Given the description of an element on the screen output the (x, y) to click on. 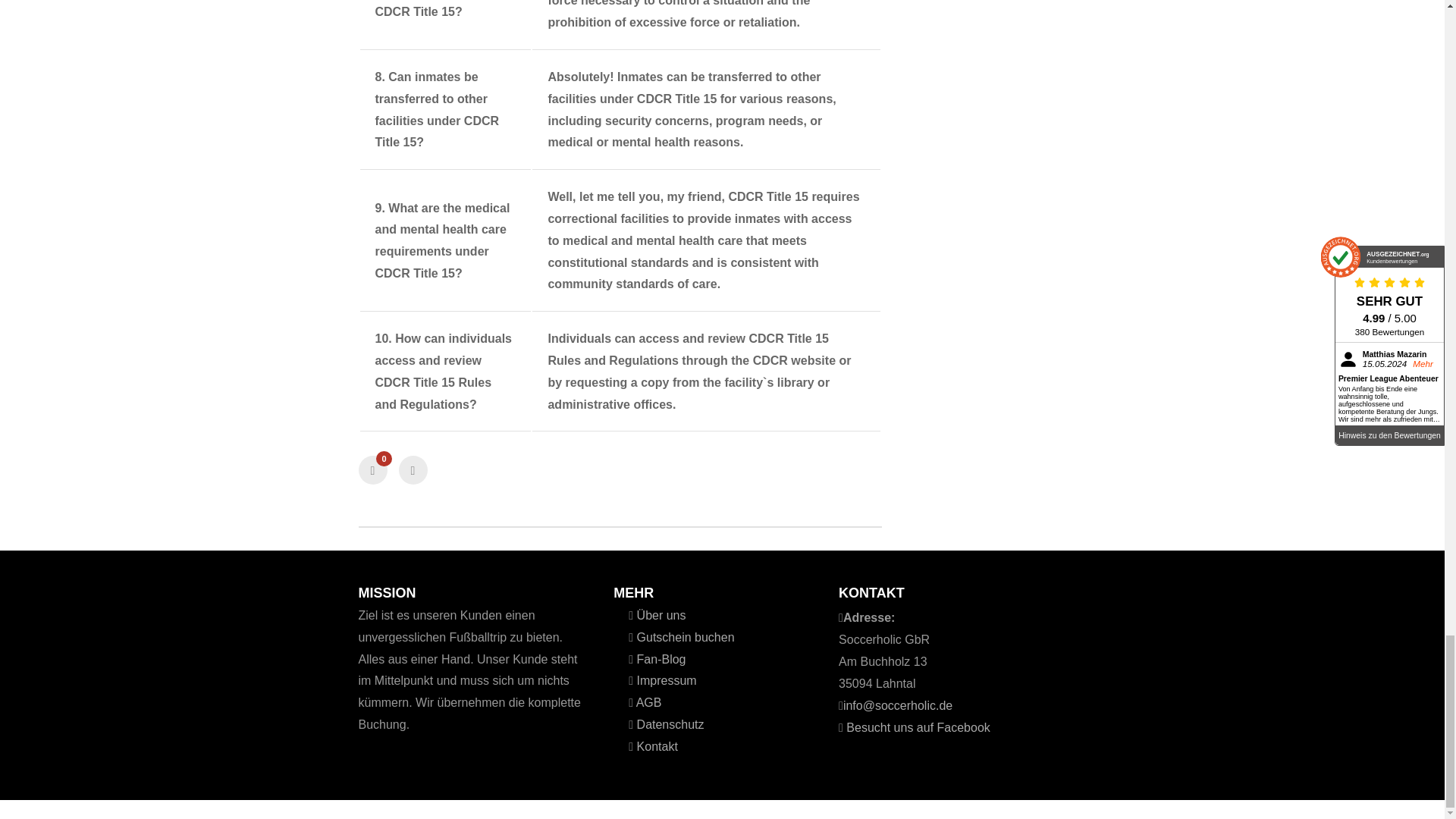
Impressum (665, 680)
Besucht uns auf Facebook (916, 727)
Gutschein buchen (683, 636)
0 (372, 469)
AGB (647, 702)
Kontakt (655, 746)
Fan-Blog (659, 658)
Datenschutz (668, 724)
